Given the description of an element on the screen output the (x, y) to click on. 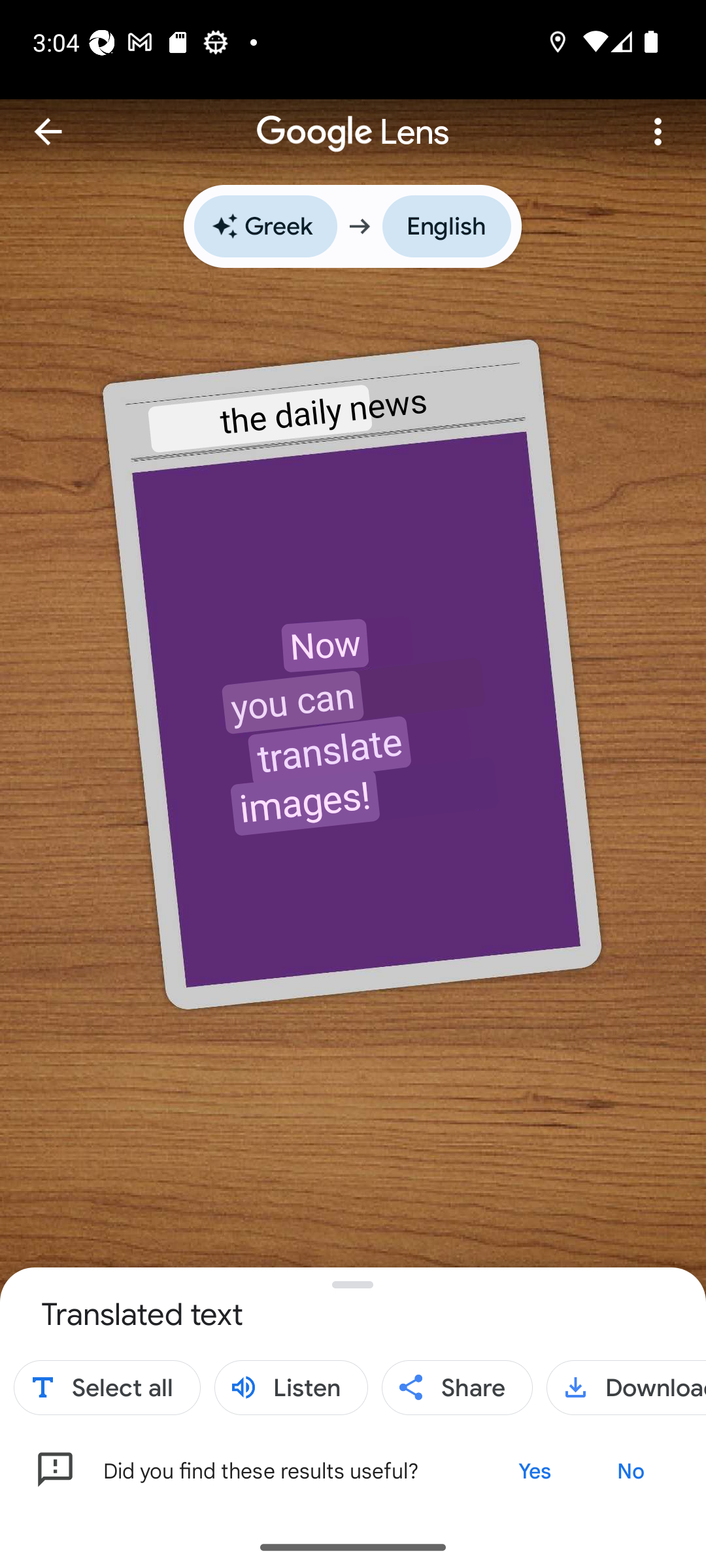
Google Lens Lens (352, 118)
Back (47, 131)
More options (657, 131)
Greek Original language auto-detect Greek (265, 226)
English Translated language English (446, 226)
Now (324, 644)
can (328, 698)
you (255, 705)
translate (329, 750)
images! (304, 801)
Select all (106, 1387)
Listen Listen to selected text (290, 1387)
Share Share translated image (457, 1387)
Download Greek (626, 1387)
Yes Yes, these results were useful. (533, 1469)
No No, these results were not useful. (629, 1469)
